Given the description of an element on the screen output the (x, y) to click on. 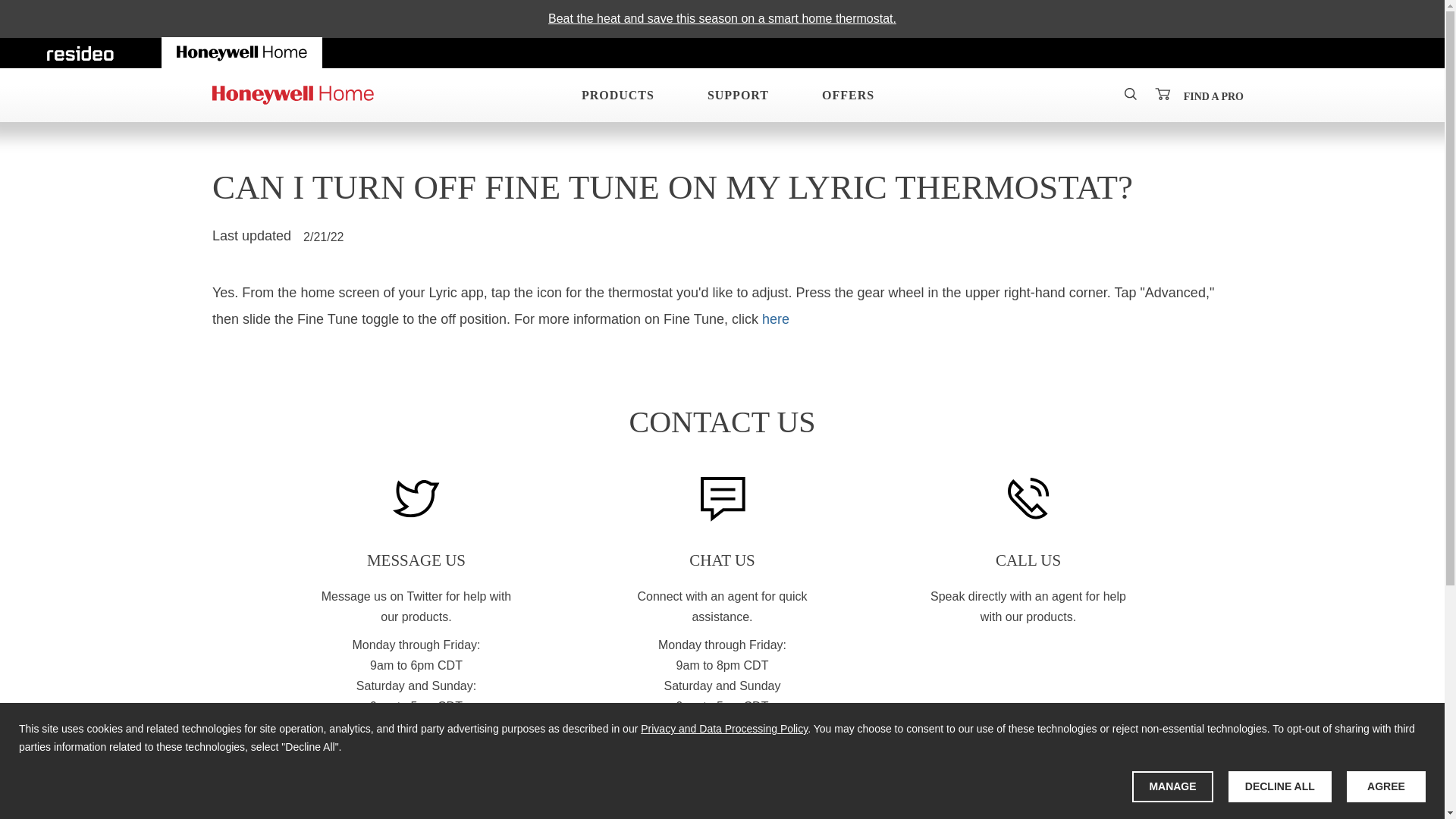
FIND A PRO (1213, 96)
Home (293, 94)
Search Button (1130, 93)
Honeywell Home home page (242, 52)
Resideo home page (80, 52)
PRODUCTS (611, 94)
